Given the description of an element on the screen output the (x, y) to click on. 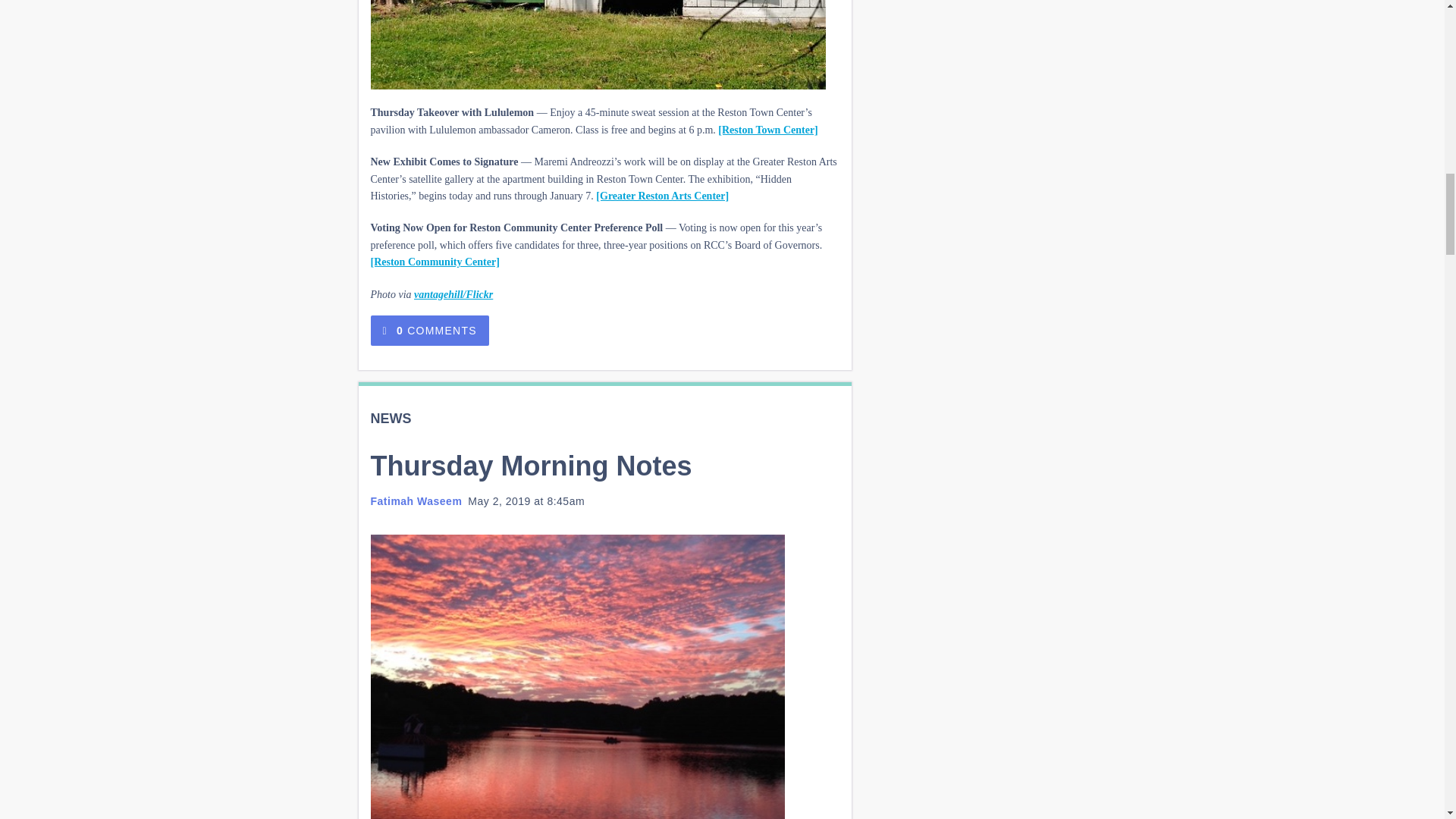
0 COMMENTS (428, 330)
Posts by Fatimah Waseem (415, 500)
Thursday Morning Notes (530, 465)
